Given the description of an element on the screen output the (x, y) to click on. 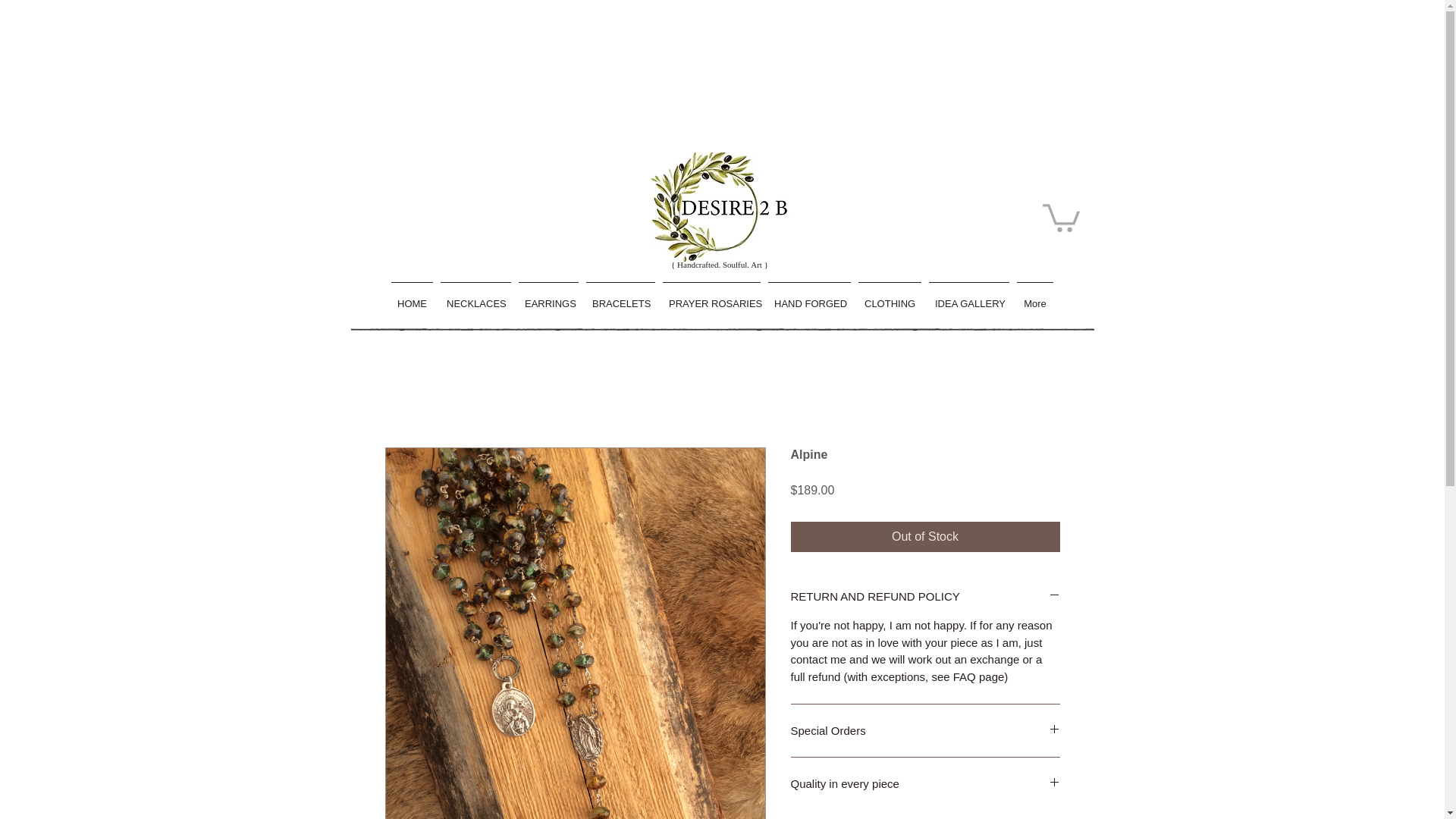
RETURN AND REFUND POLICY (924, 596)
Special Orders (924, 730)
BRACELETS (620, 296)
HOME (411, 296)
IDEA GALLERY (968, 296)
Quality in every piece (924, 783)
EARRINGS (548, 296)
HAND FORGED (809, 296)
CLOTHING (889, 296)
Out of Stock (924, 536)
NECKLACES (475, 296)
PRAYER ROSARIES (711, 296)
